Given the description of an element on the screen output the (x, y) to click on. 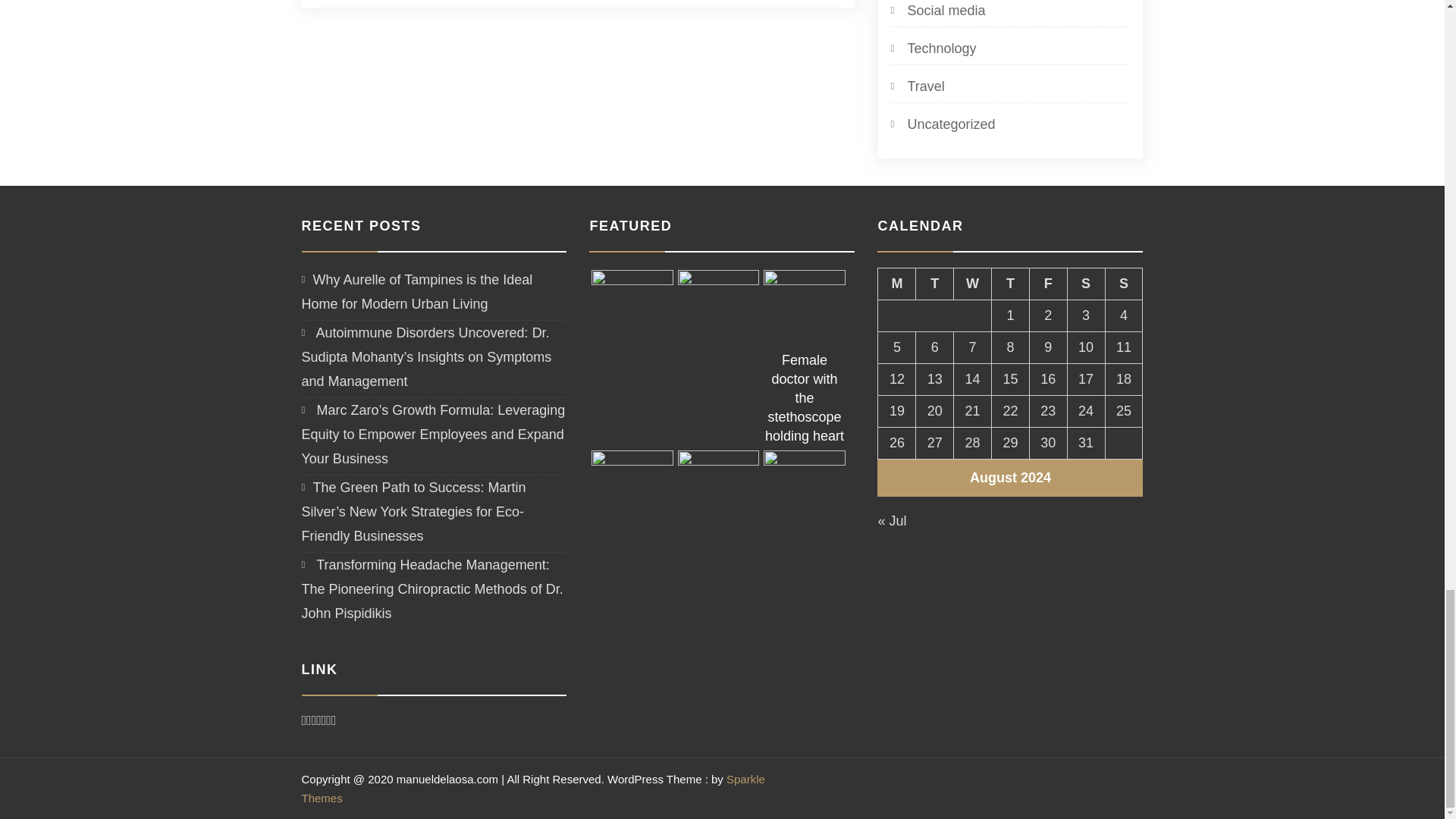
Monday (896, 283)
Tuesday (934, 283)
Wednesday (972, 283)
Sunday (1123, 283)
Thursday (1010, 283)
Saturday (1086, 283)
Friday (1048, 283)
